Given the description of an element on the screen output the (x, y) to click on. 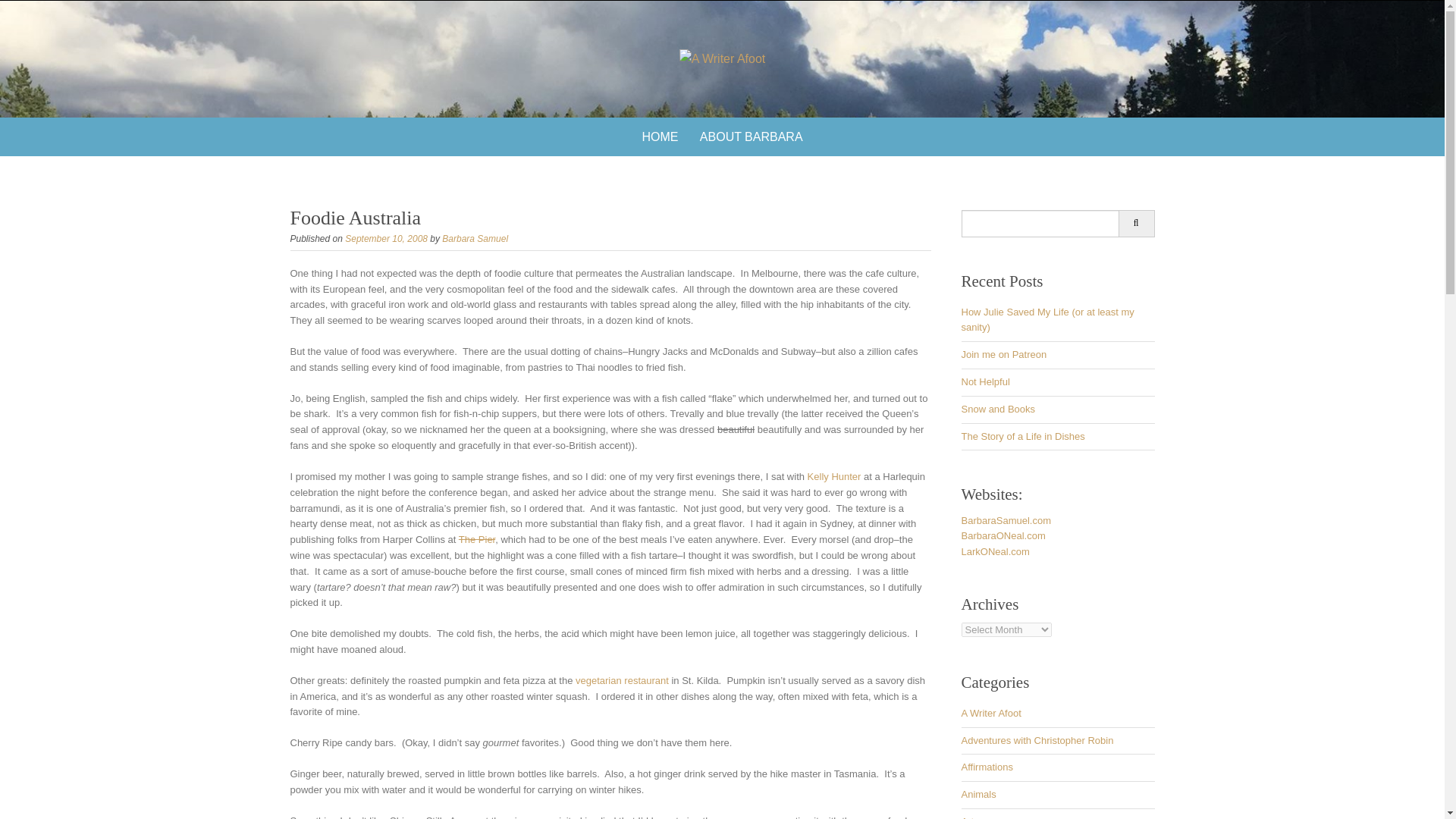
The Story of a Life in Dishes (1022, 436)
Adventures with Christopher Robin (1036, 740)
Join me on Patreon (1003, 354)
ABOUT BARBARA (751, 136)
The Pier (476, 539)
Search (1136, 223)
BarbaraSamuel.com (1005, 519)
Not Helpful (985, 381)
vegetarian restaurant (621, 680)
